Given the description of an element on the screen output the (x, y) to click on. 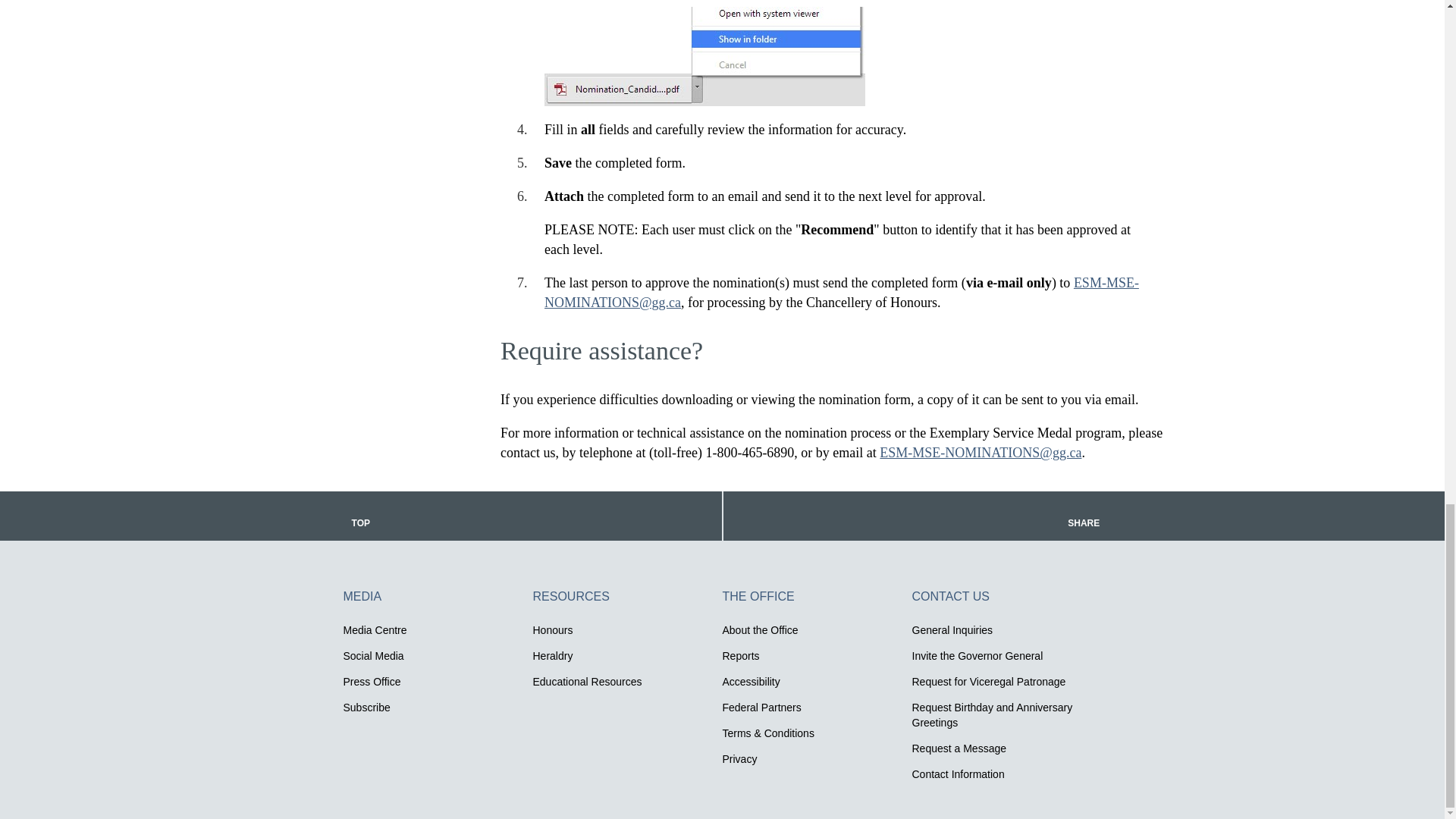
Go to the top of the page. (361, 515)
Share this page with your friends. (1084, 515)
